Given the description of an element on the screen output the (x, y) to click on. 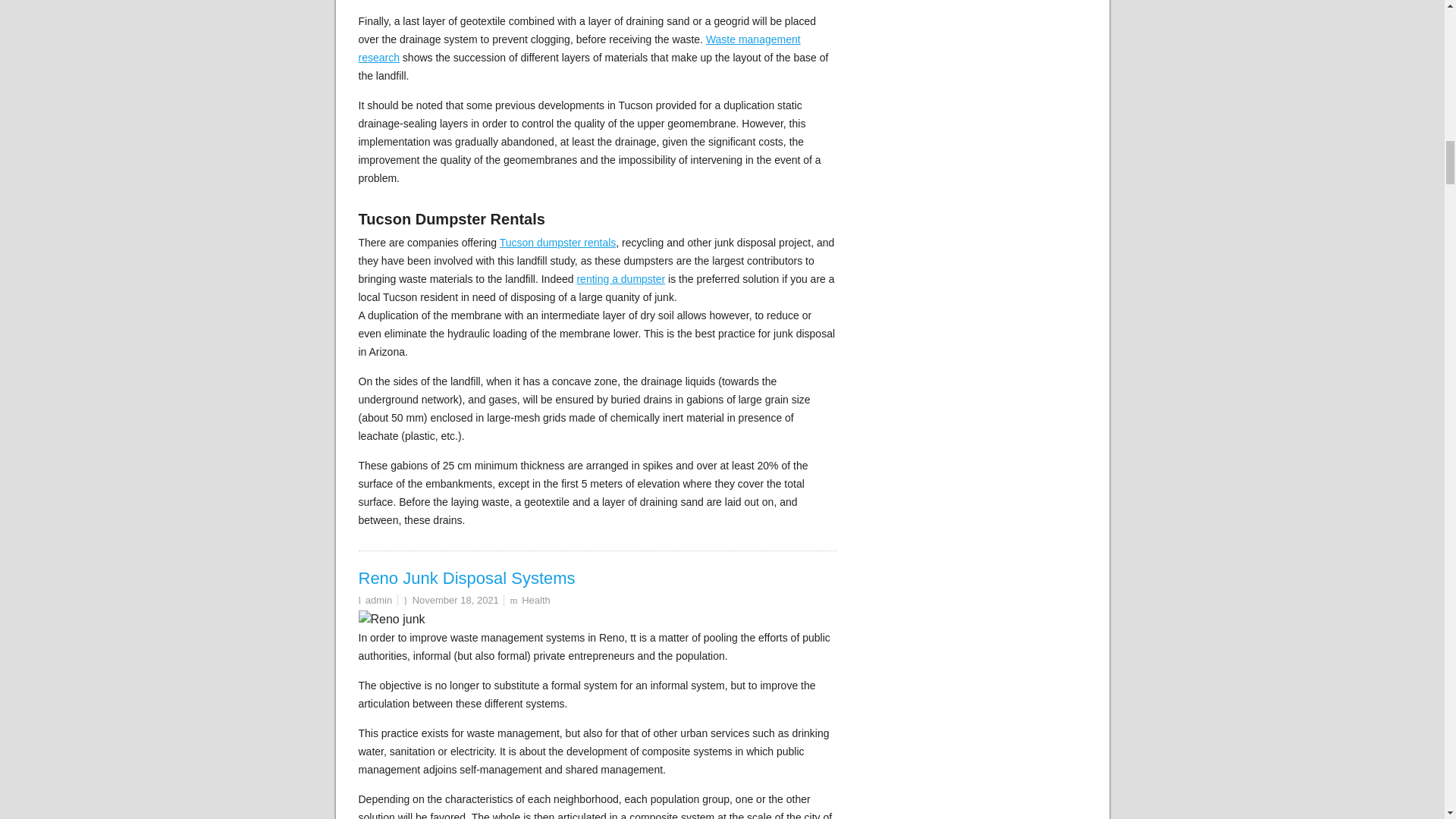
Waste management research (578, 48)
Health (535, 600)
Tucson dumpster rentals (557, 242)
Reno Junk Disposal Systems (466, 578)
Posts by admin (378, 600)
renting a dumpster (620, 278)
November 18, 2021 (455, 600)
admin (378, 600)
